Given the description of an element on the screen output the (x, y) to click on. 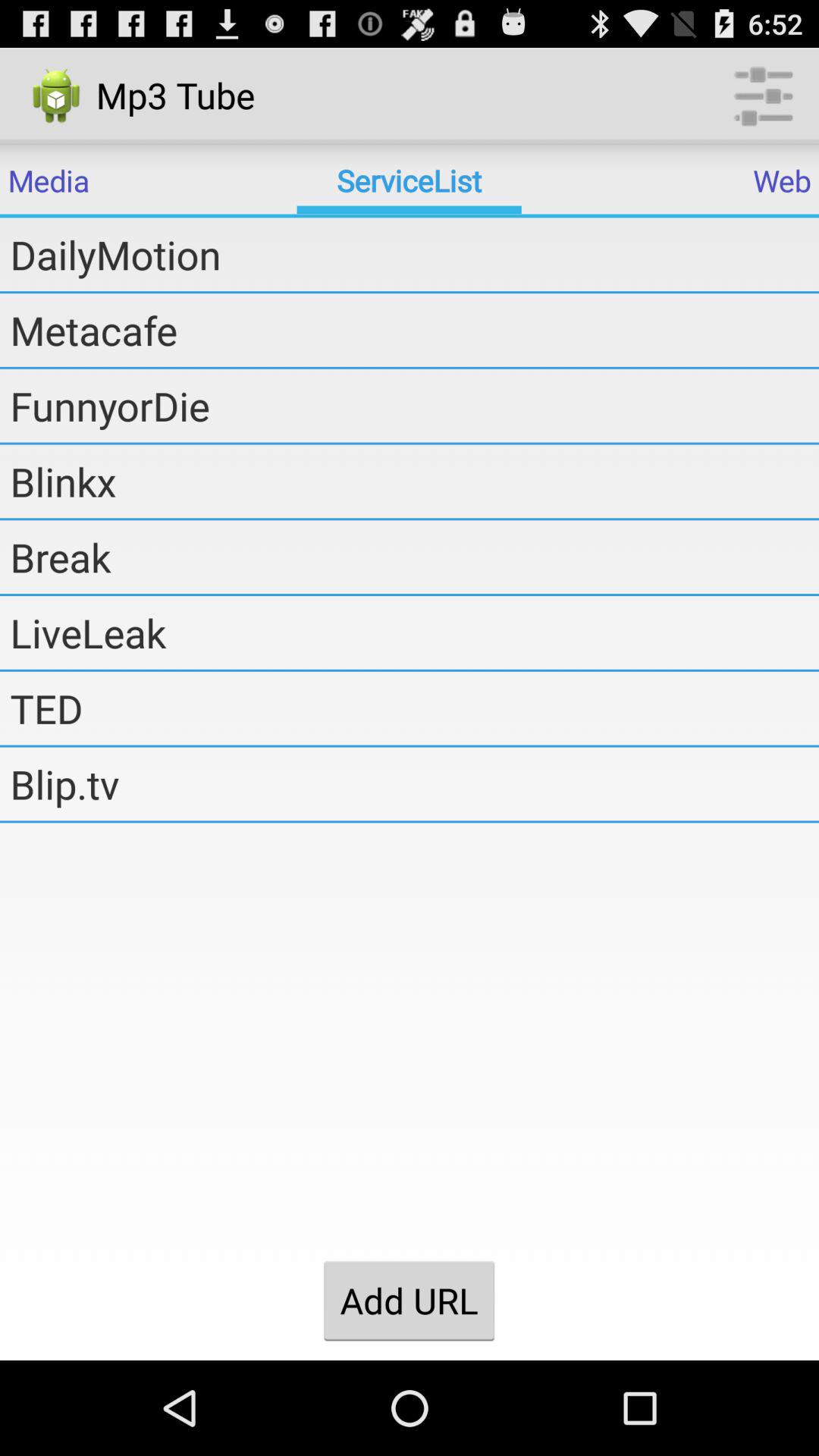
turn off app below dailymotion item (414, 329)
